Given the description of an element on the screen output the (x, y) to click on. 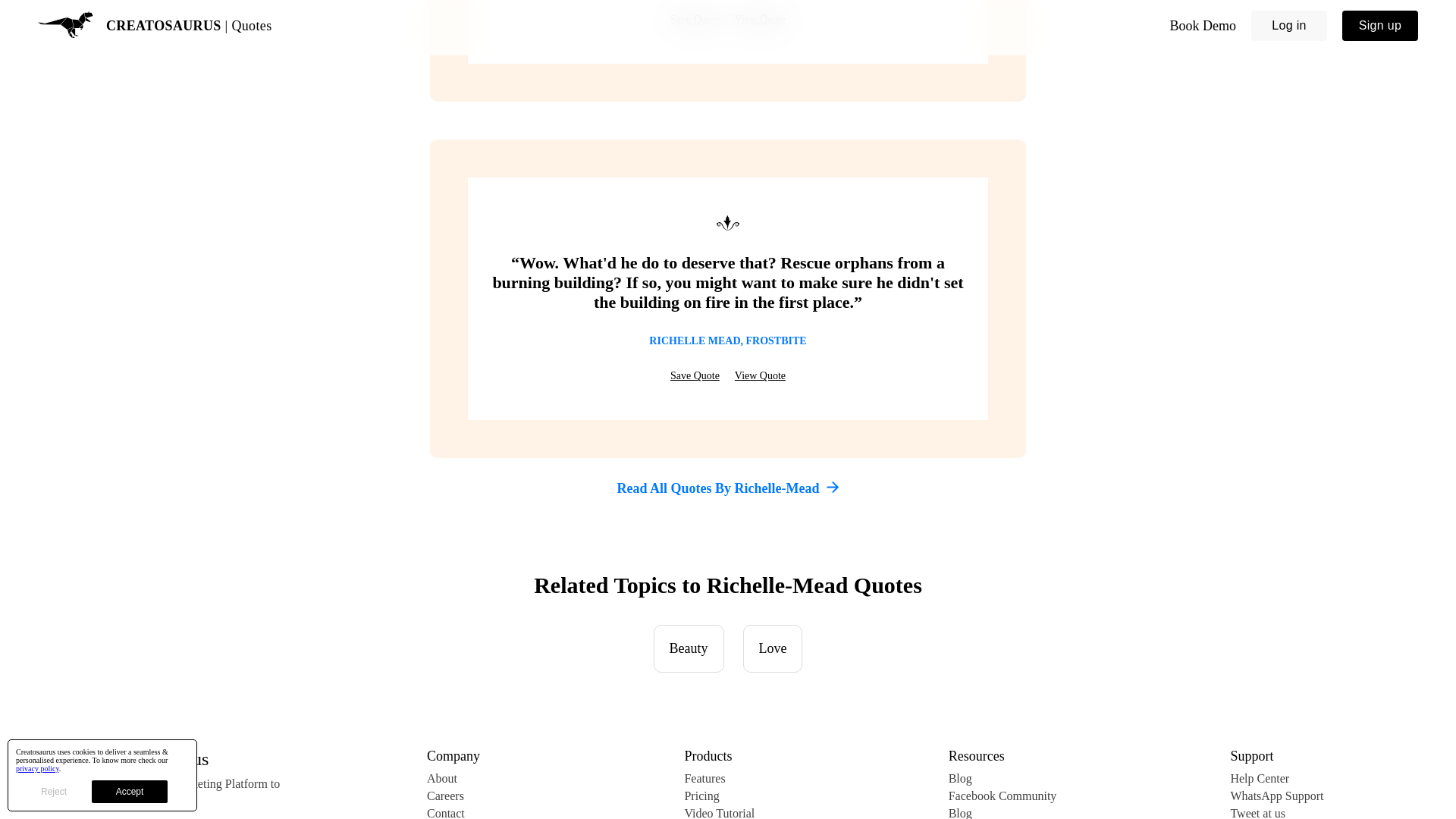
About (453, 778)
Read All Quotes By Richelle-Mead (728, 488)
Beauty (688, 648)
Careers (453, 796)
Features (727, 778)
View Quote (760, 19)
Contact (453, 812)
RICHELLE MEAD, FROSTBITE (727, 340)
View Quote (760, 376)
Love (772, 648)
